Given the description of an element on the screen output the (x, y) to click on. 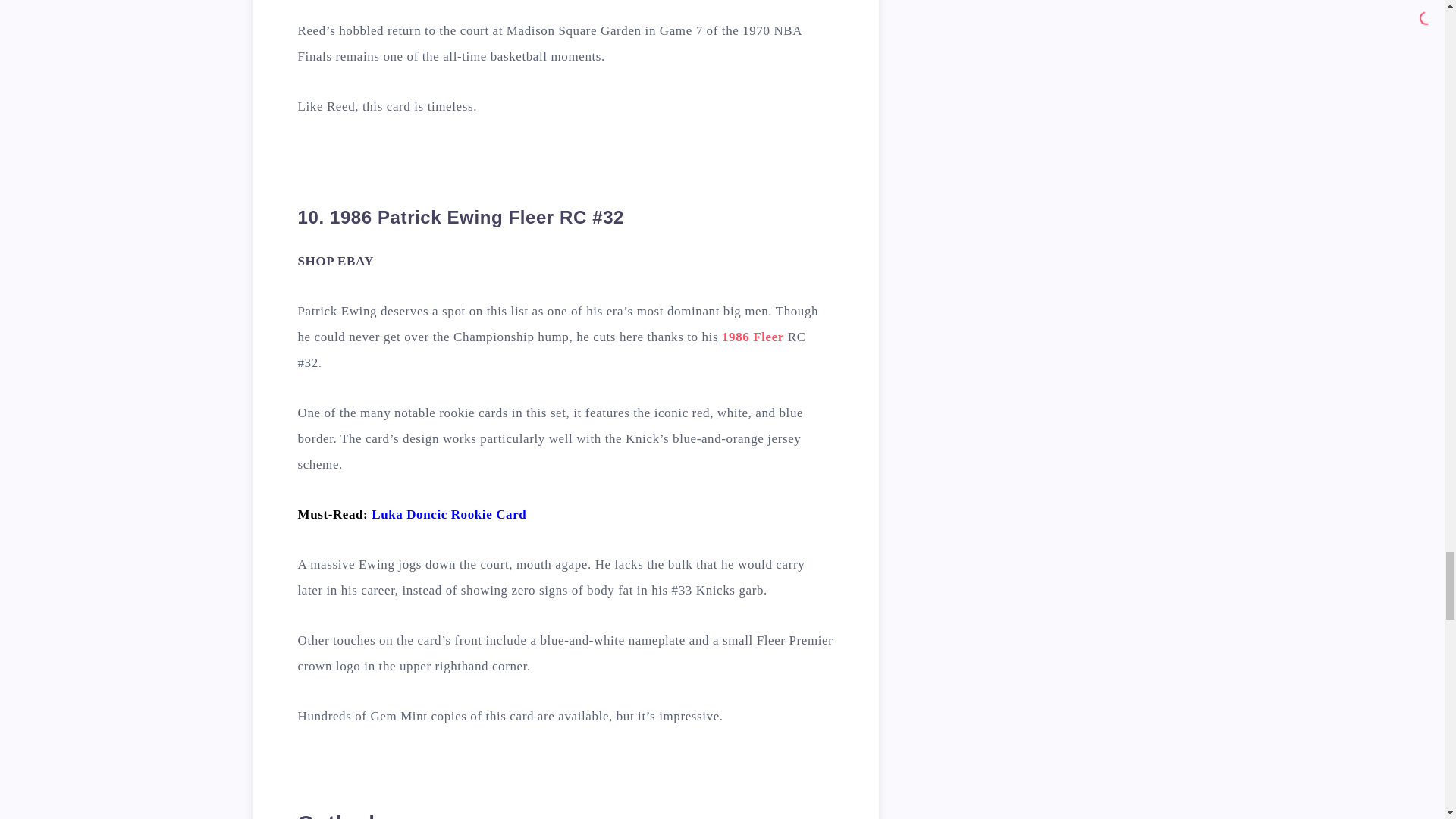
SHOP EBAY (335, 260)
Luka Doncic Rookie Card (448, 513)
1986 Fleer (753, 336)
